Given the description of an element on the screen output the (x, y) to click on. 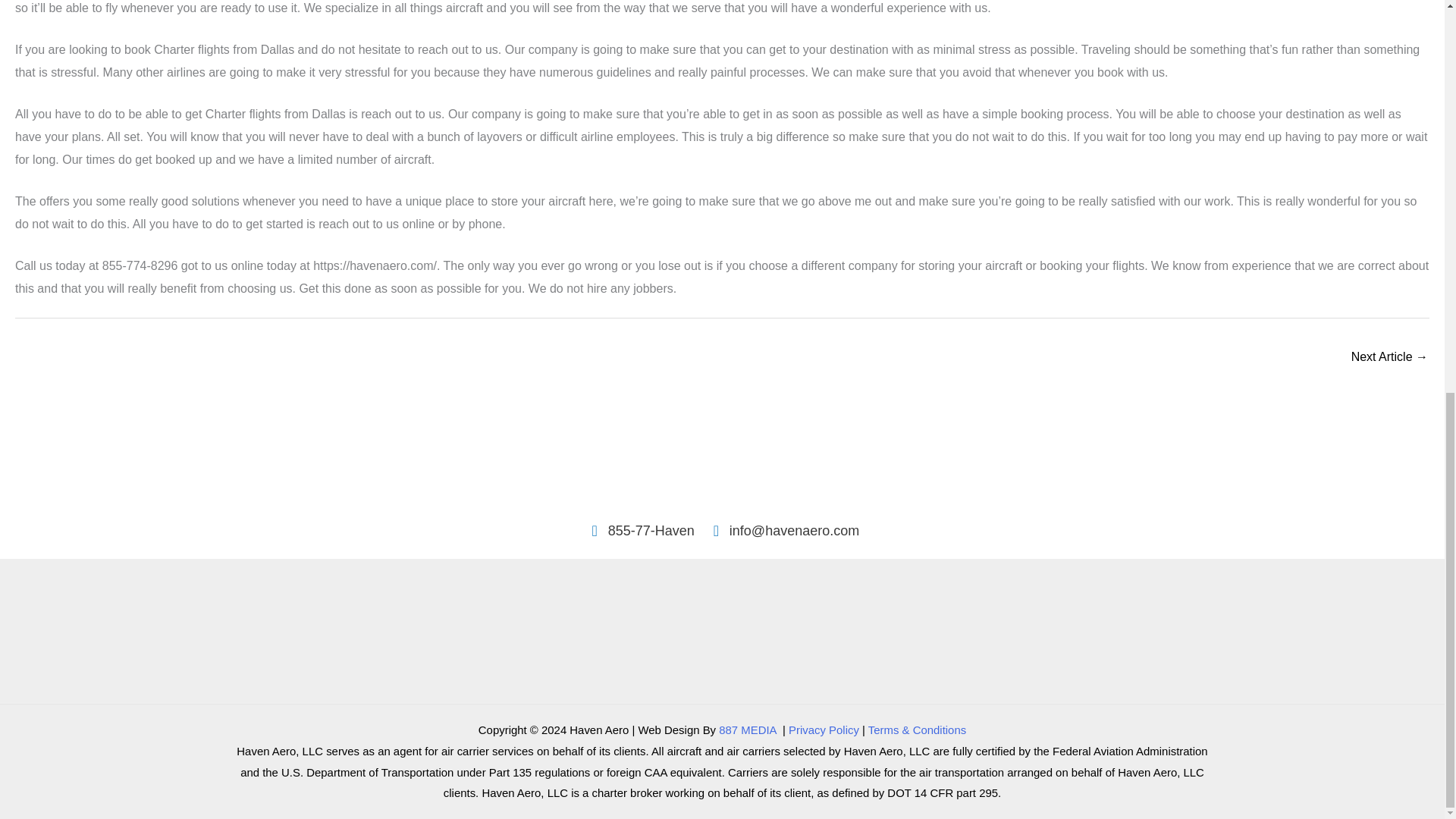
855-77-Haven (639, 530)
